Given the description of an element on the screen output the (x, y) to click on. 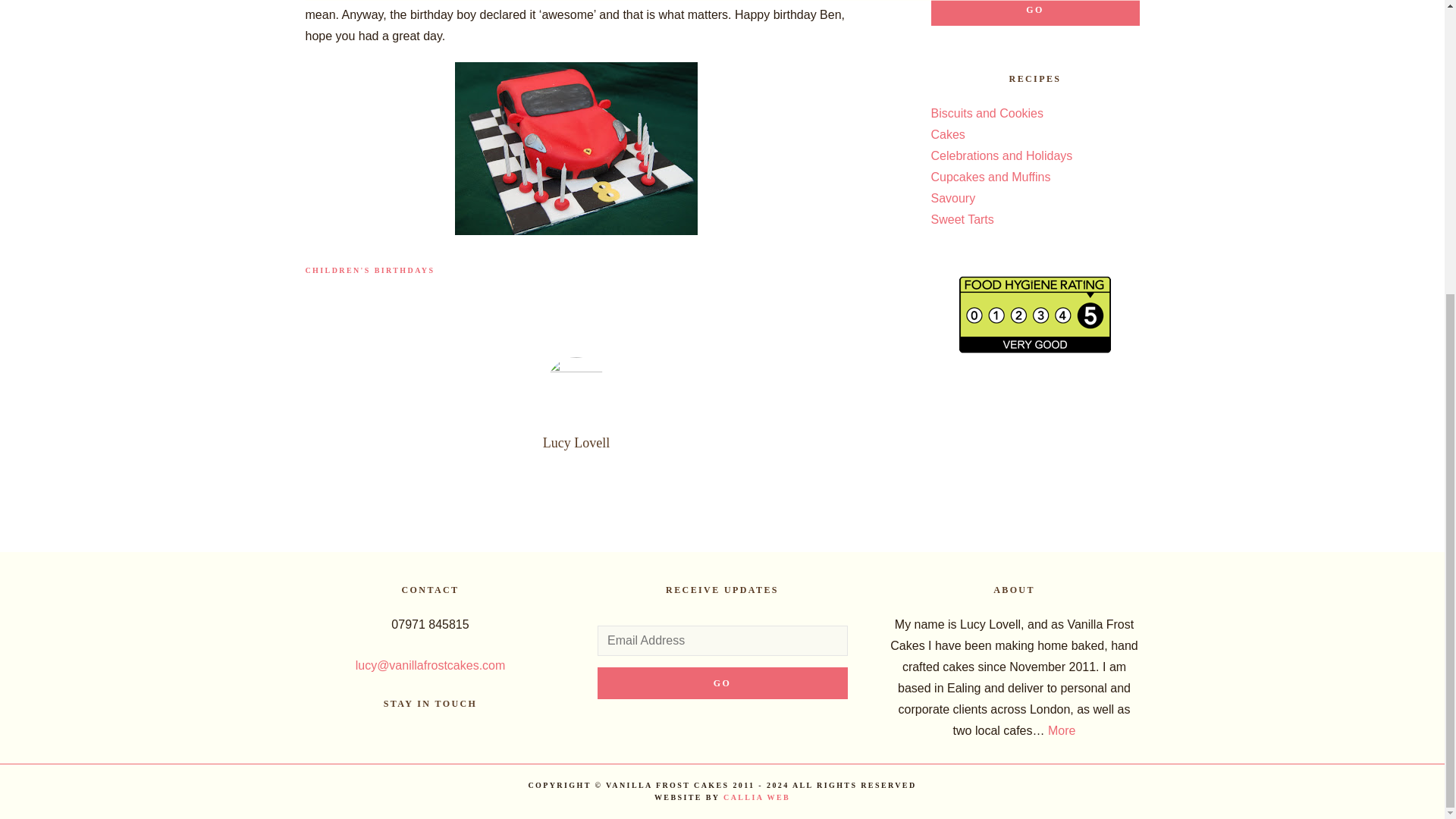
Go (721, 683)
Go (1035, 12)
CHILDREN'S BIRTHDAYS (368, 270)
Go (1035, 12)
